Given the description of an element on the screen output the (x, y) to click on. 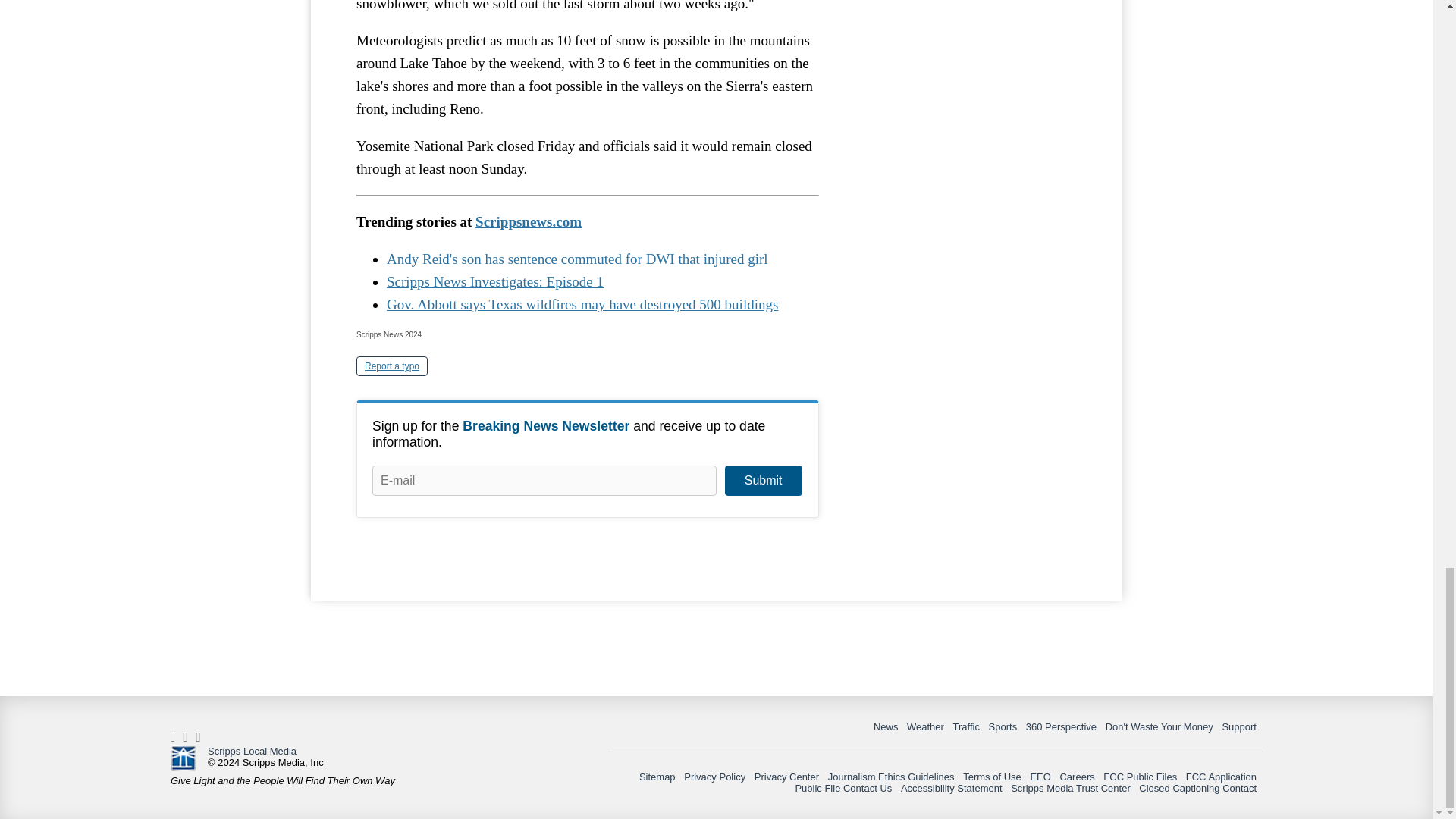
Submit (763, 481)
